Given the description of an element on the screen output the (x, y) to click on. 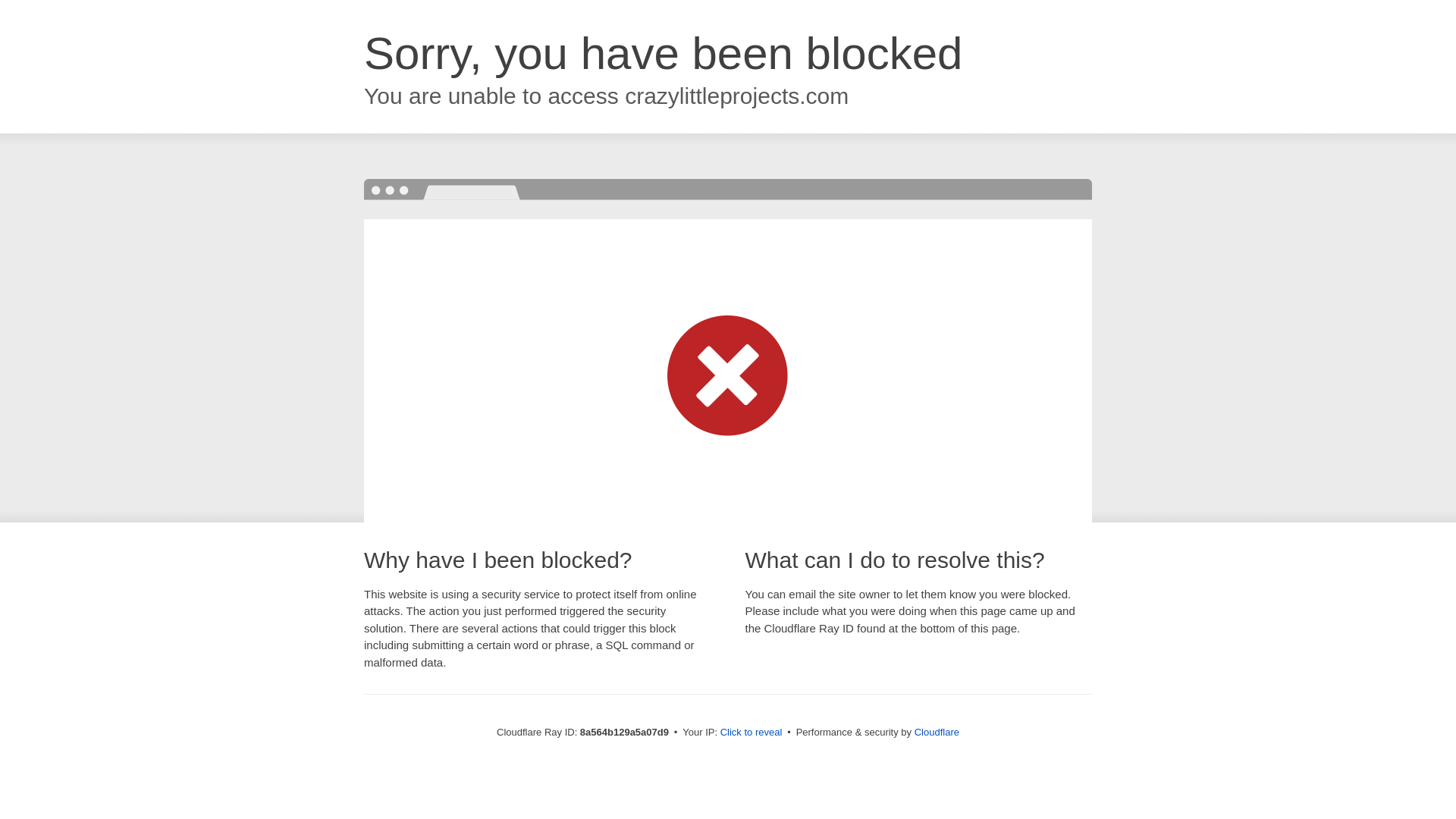
Cloudflare (936, 731)
Click to reveal (751, 732)
